Given the description of an element on the screen output the (x, y) to click on. 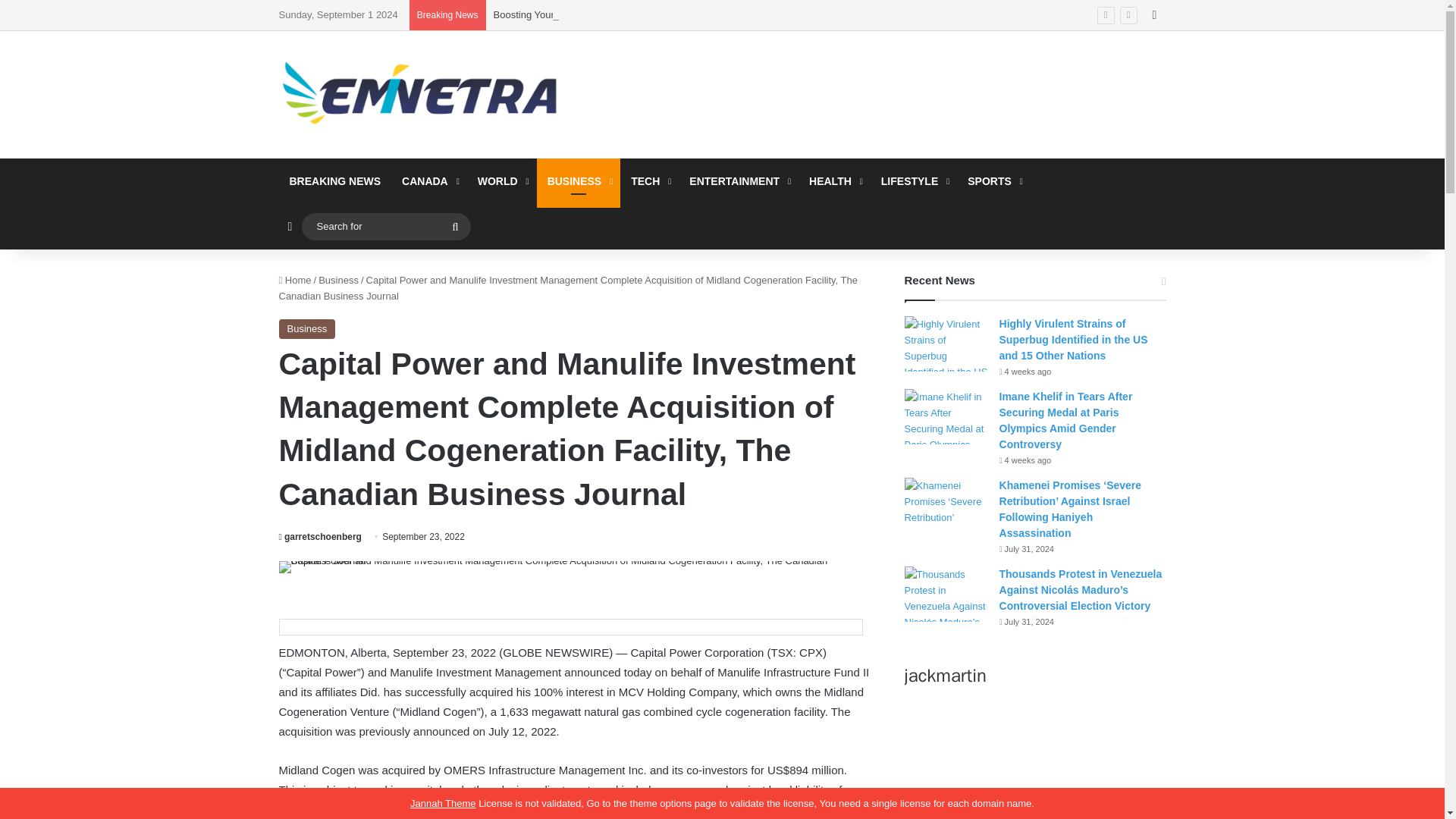
garretschoenberg (320, 536)
Business (338, 279)
TECH (649, 180)
BREAKING NEWS (335, 180)
WORLD (502, 180)
HEALTH (833, 180)
Search for (454, 225)
ENTERTAINMENT (737, 180)
